Given the description of an element on the screen output the (x, y) to click on. 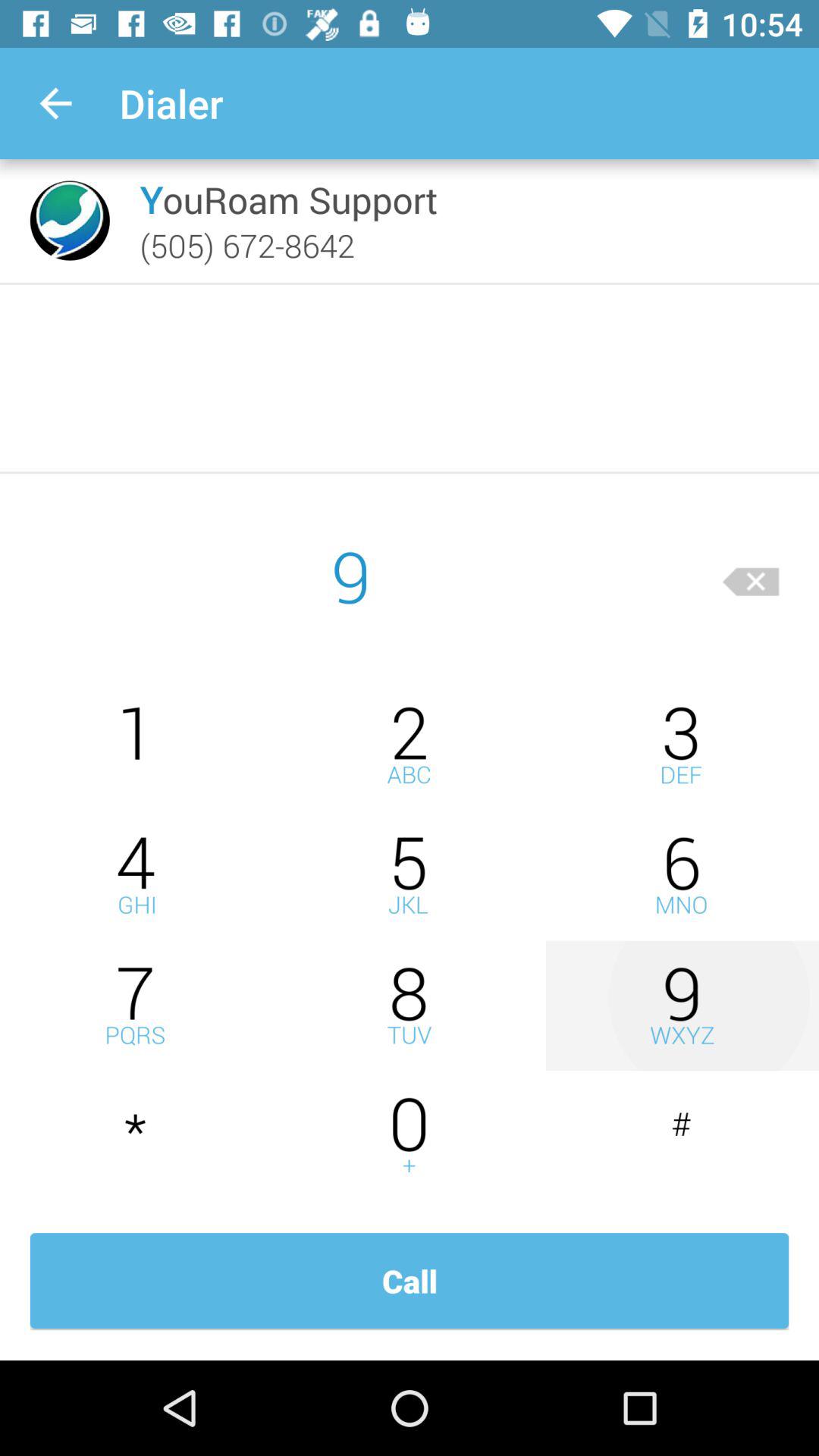
turn on the icon above (505) 672-8642 icon (288, 199)
